Given the description of an element on the screen output the (x, y) to click on. 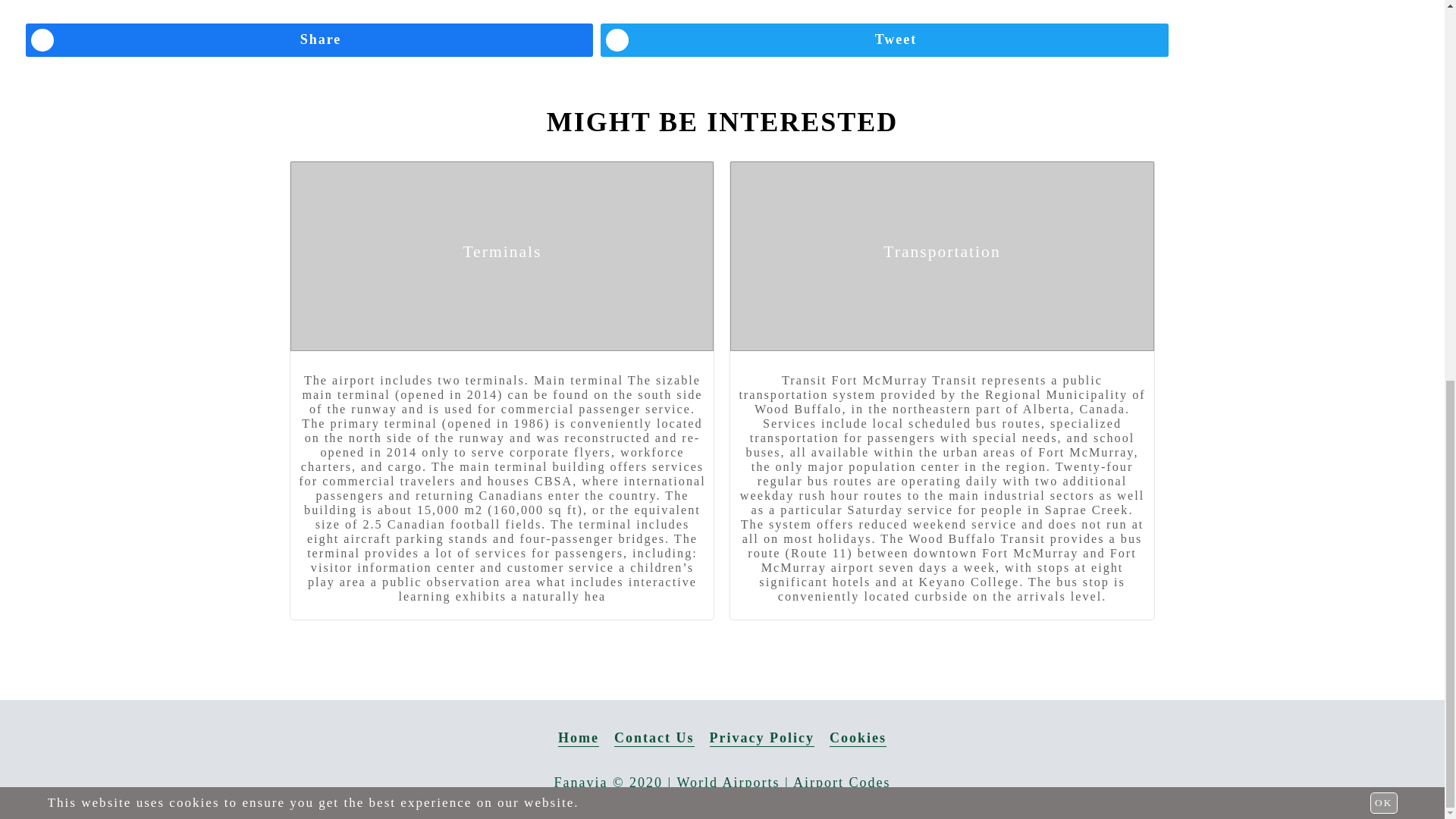
Tweet (884, 39)
Home (577, 738)
Share (309, 39)
Cookies (857, 738)
OK (1383, 93)
Contact Us (654, 738)
Privacy Policy (761, 738)
